Given the description of an element on the screen output the (x, y) to click on. 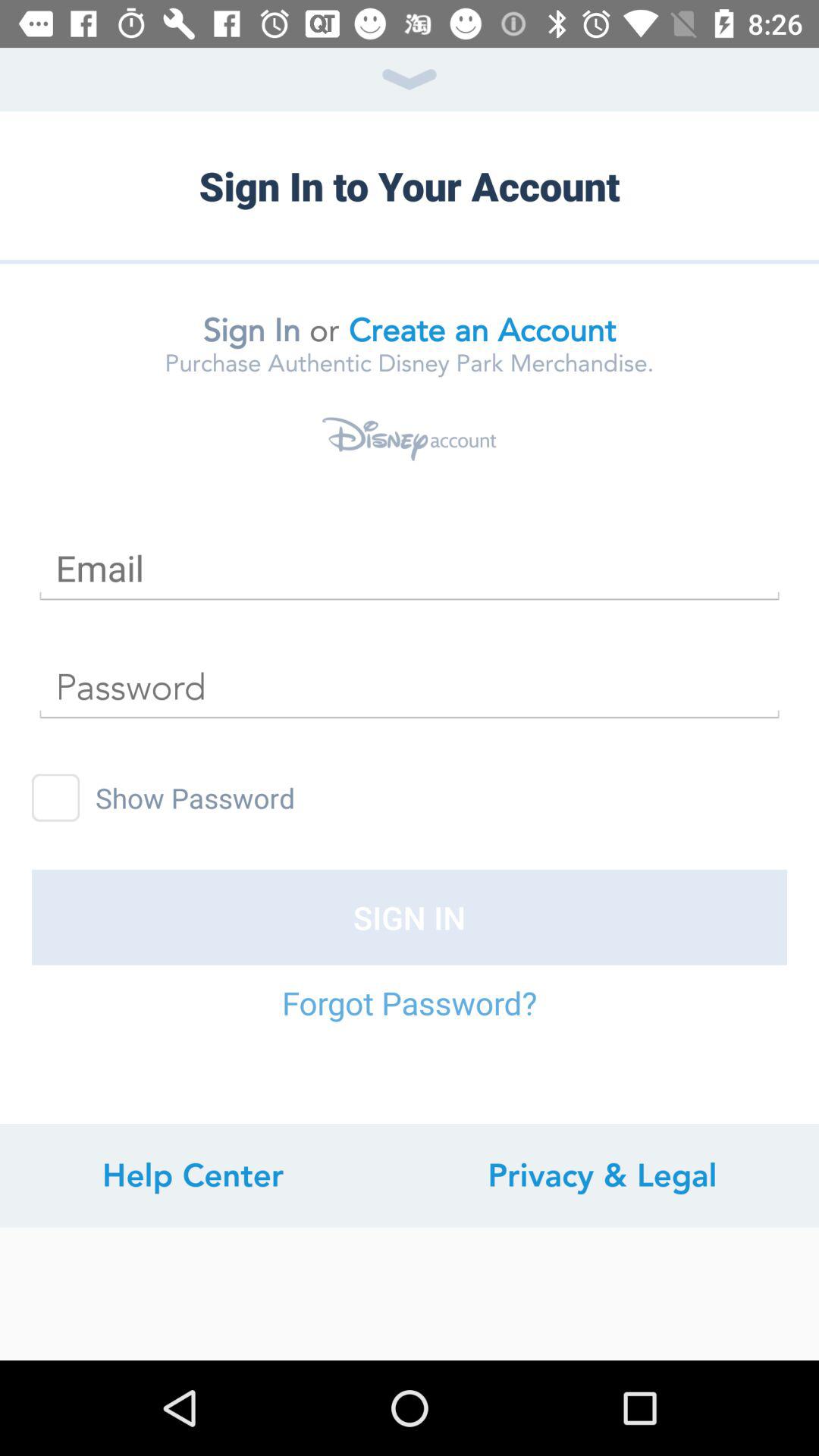
select the item next to privacy & legal item (192, 1175)
